Given the description of an element on the screen output the (x, y) to click on. 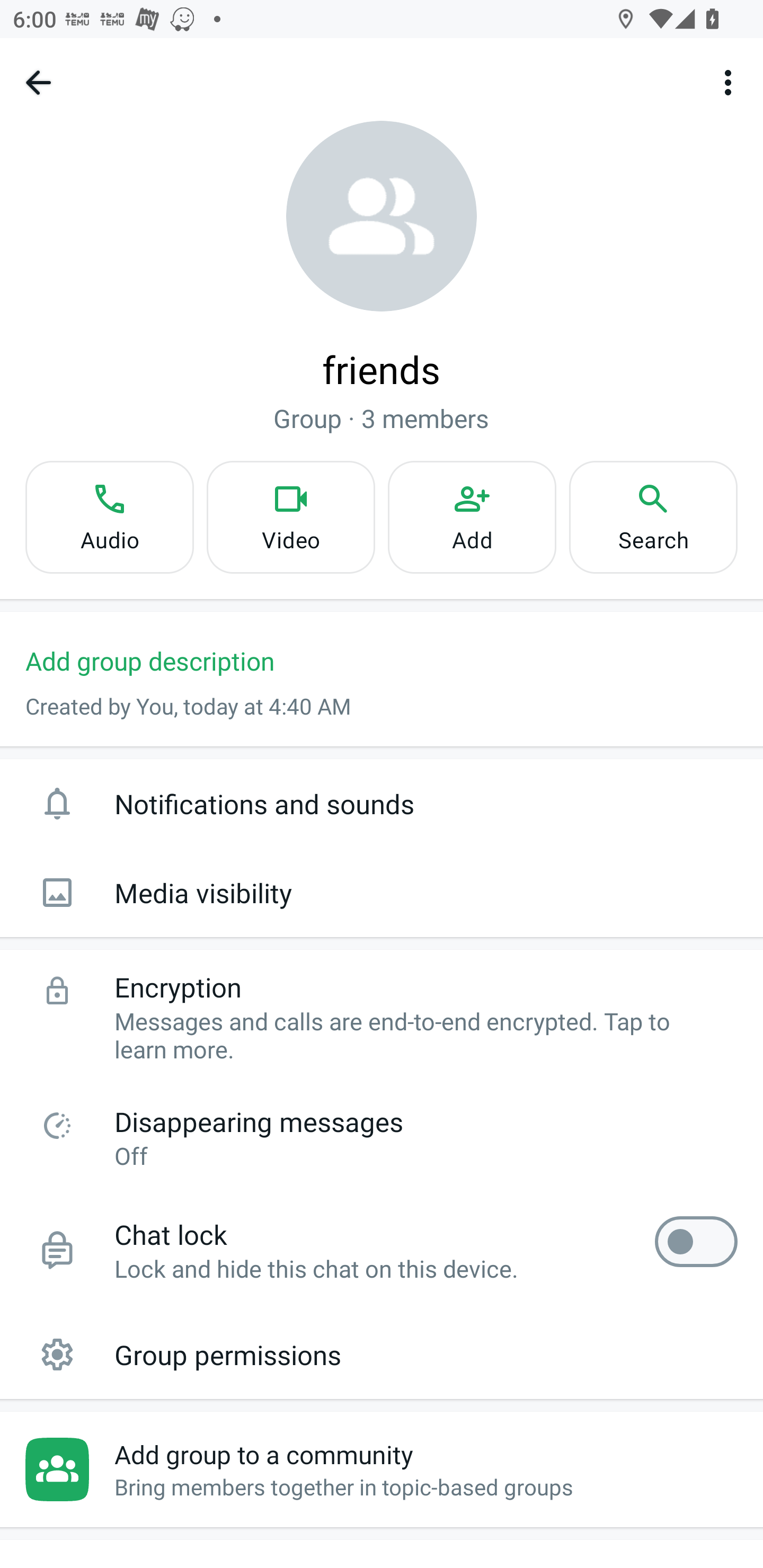
Navigate up (38, 82)
More options (731, 81)
Profile photo (381, 216)
Audio (109, 516)
Video (290, 516)
Add (471, 516)
Search (653, 516)
Notifications and sounds (381, 803)
Media visibility (381, 892)
Disappearing messages Off (381, 1137)
Group permissions (381, 1353)
